Given the description of an element on the screen output the (x, y) to click on. 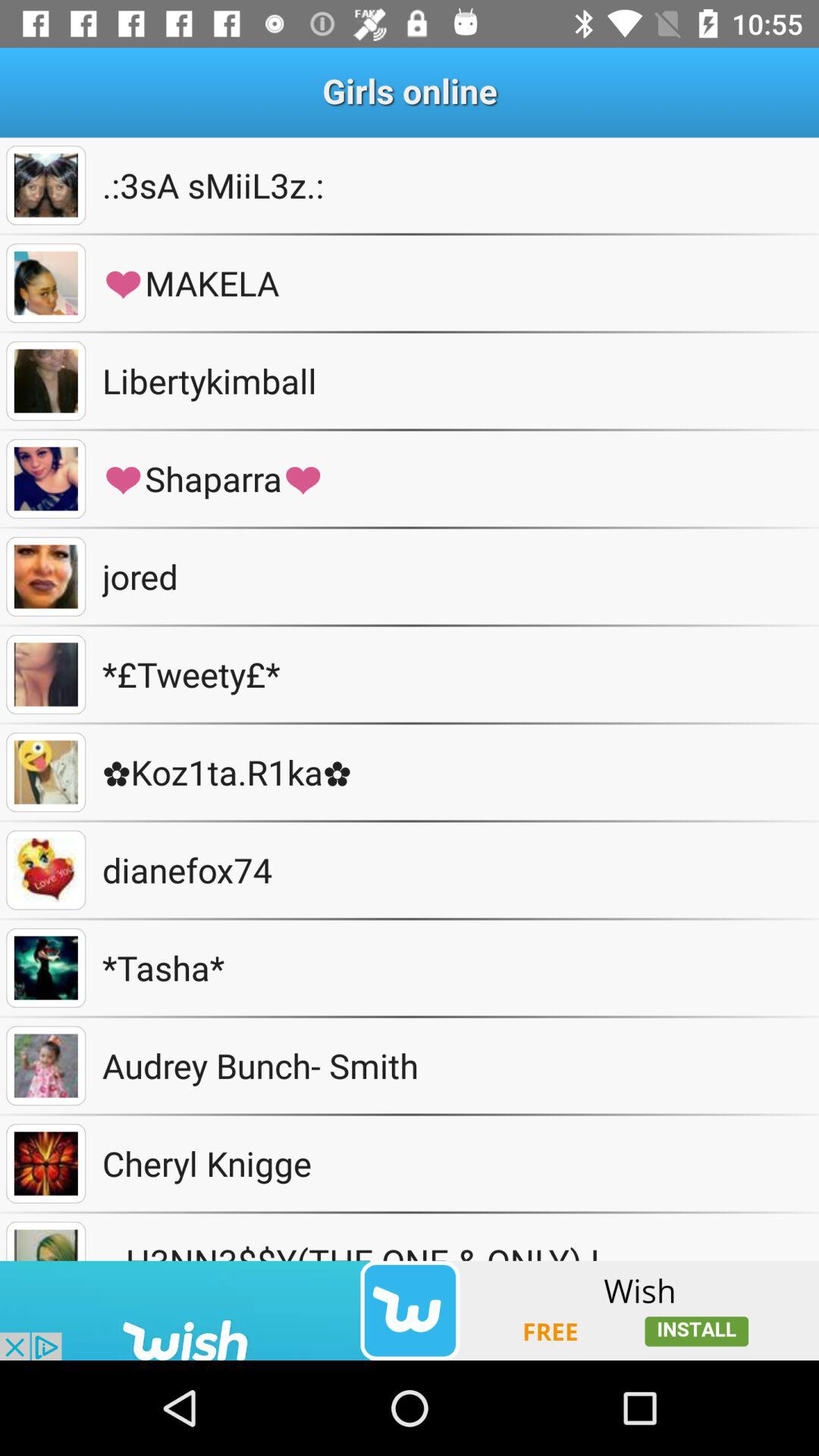
chat profile girl (45, 772)
